Given the description of an element on the screen output the (x, y) to click on. 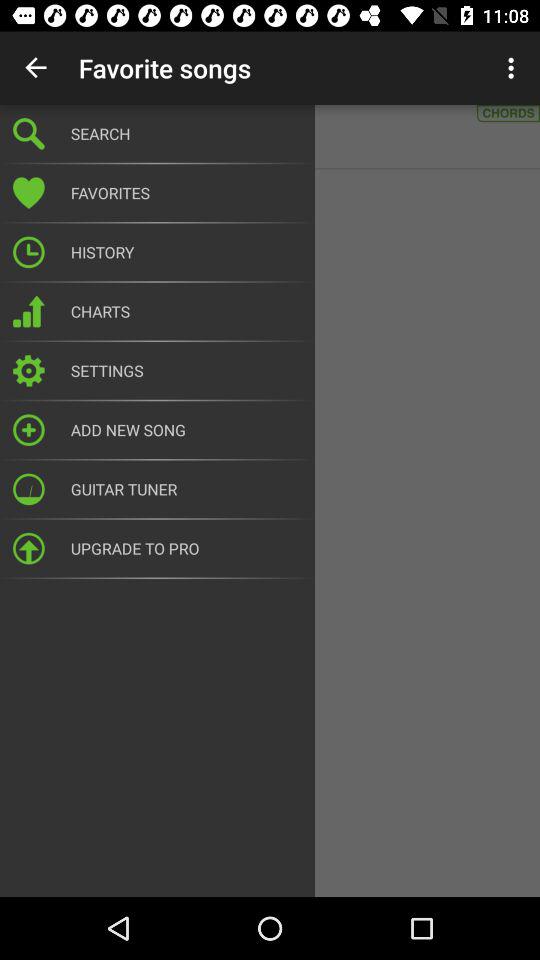
jump until the guitar tuner item (185, 489)
